Given the description of an element on the screen output the (x, y) to click on. 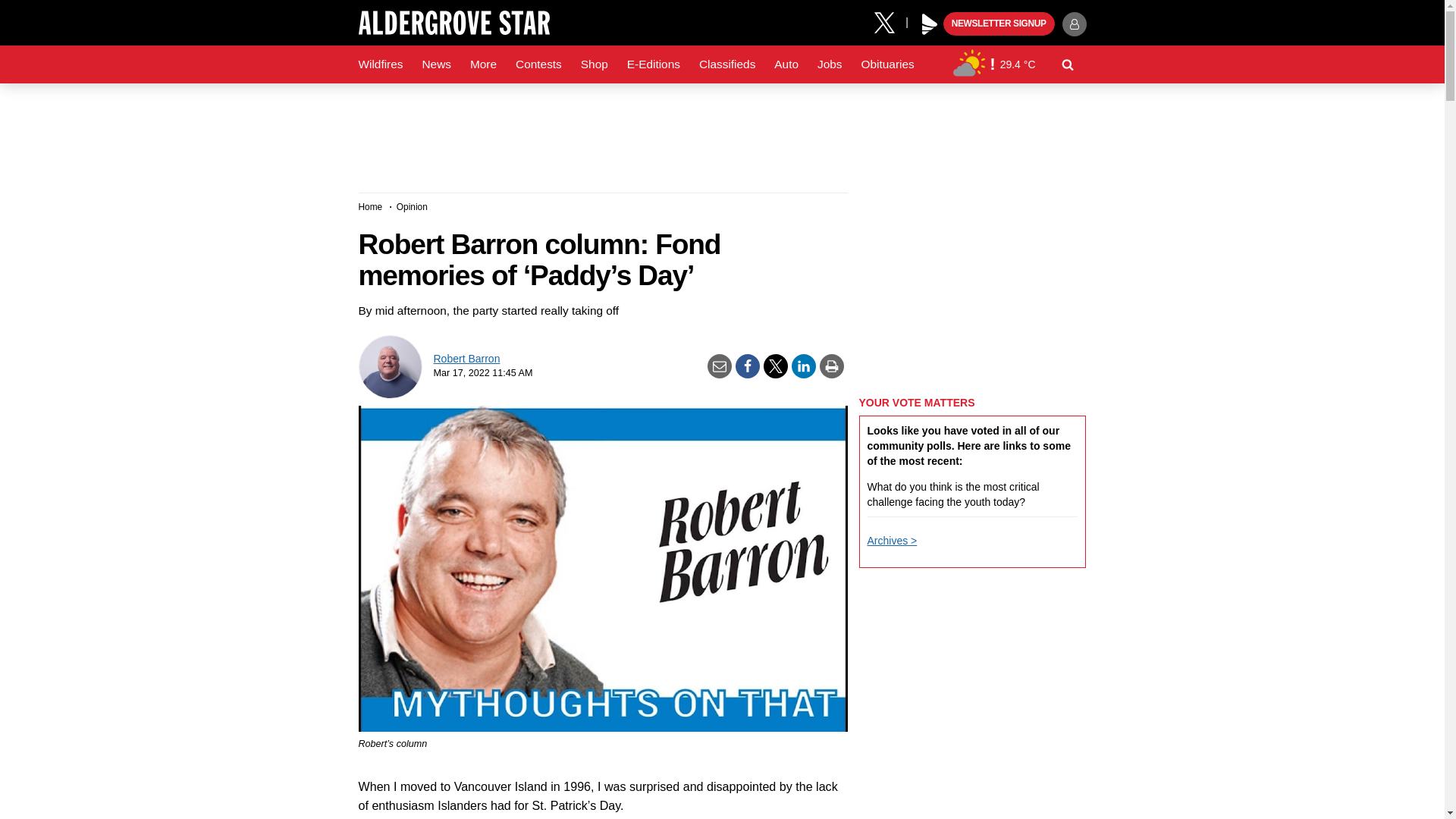
X (889, 21)
Black Press Media (929, 24)
NEWSLETTER SIGNUP (998, 24)
Play (929, 24)
Wildfires (380, 64)
News (435, 64)
